Given the description of an element on the screen output the (x, y) to click on. 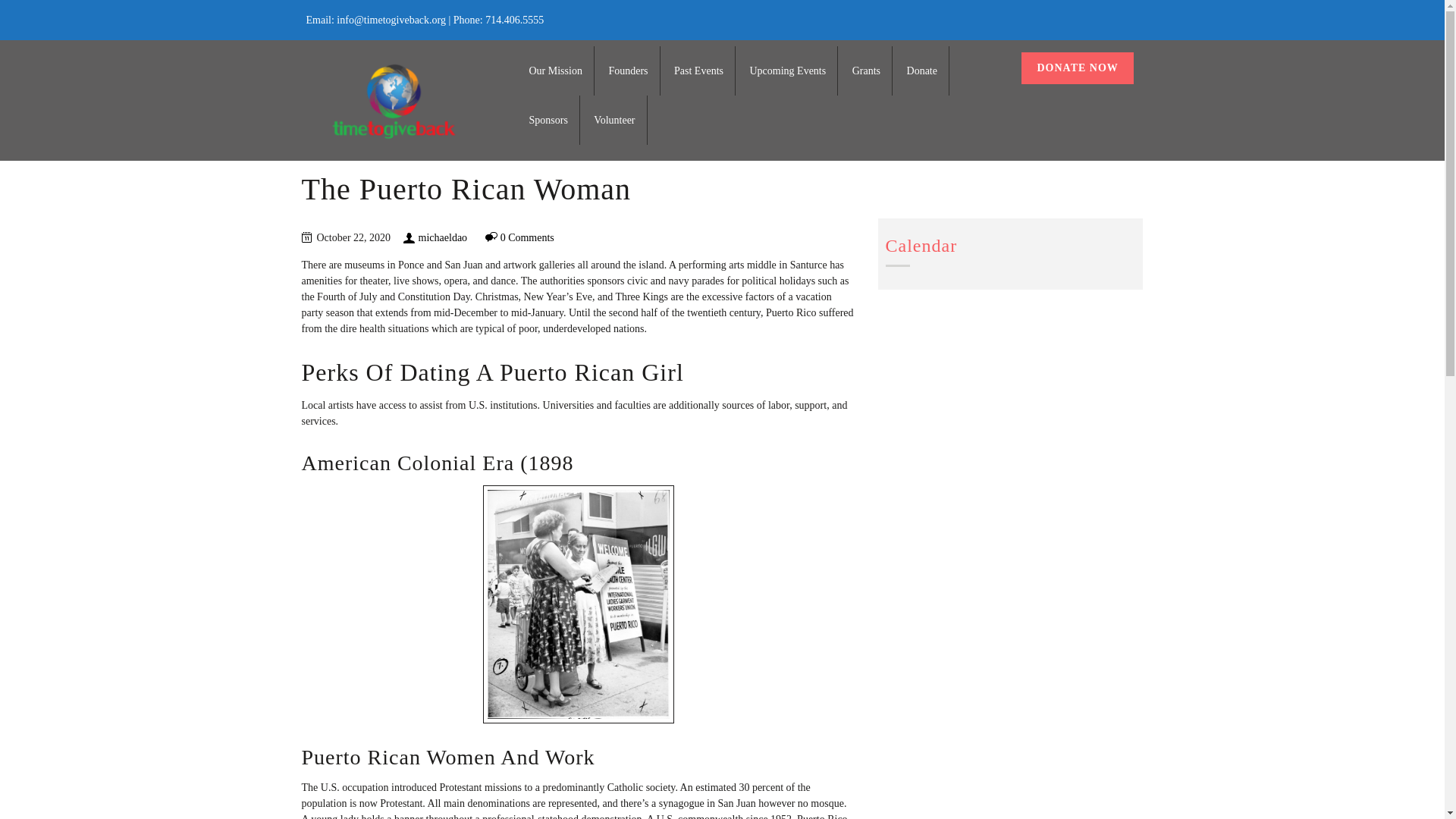
Donate (922, 70)
Volunteer (614, 119)
Grants (865, 70)
Founders (627, 70)
Sponsors (548, 119)
michaeldao (443, 237)
Past Events (698, 70)
Upcoming Events (787, 70)
Our Mission (555, 70)
DONATE NOW (1077, 68)
